Given the description of an element on the screen output the (x, y) to click on. 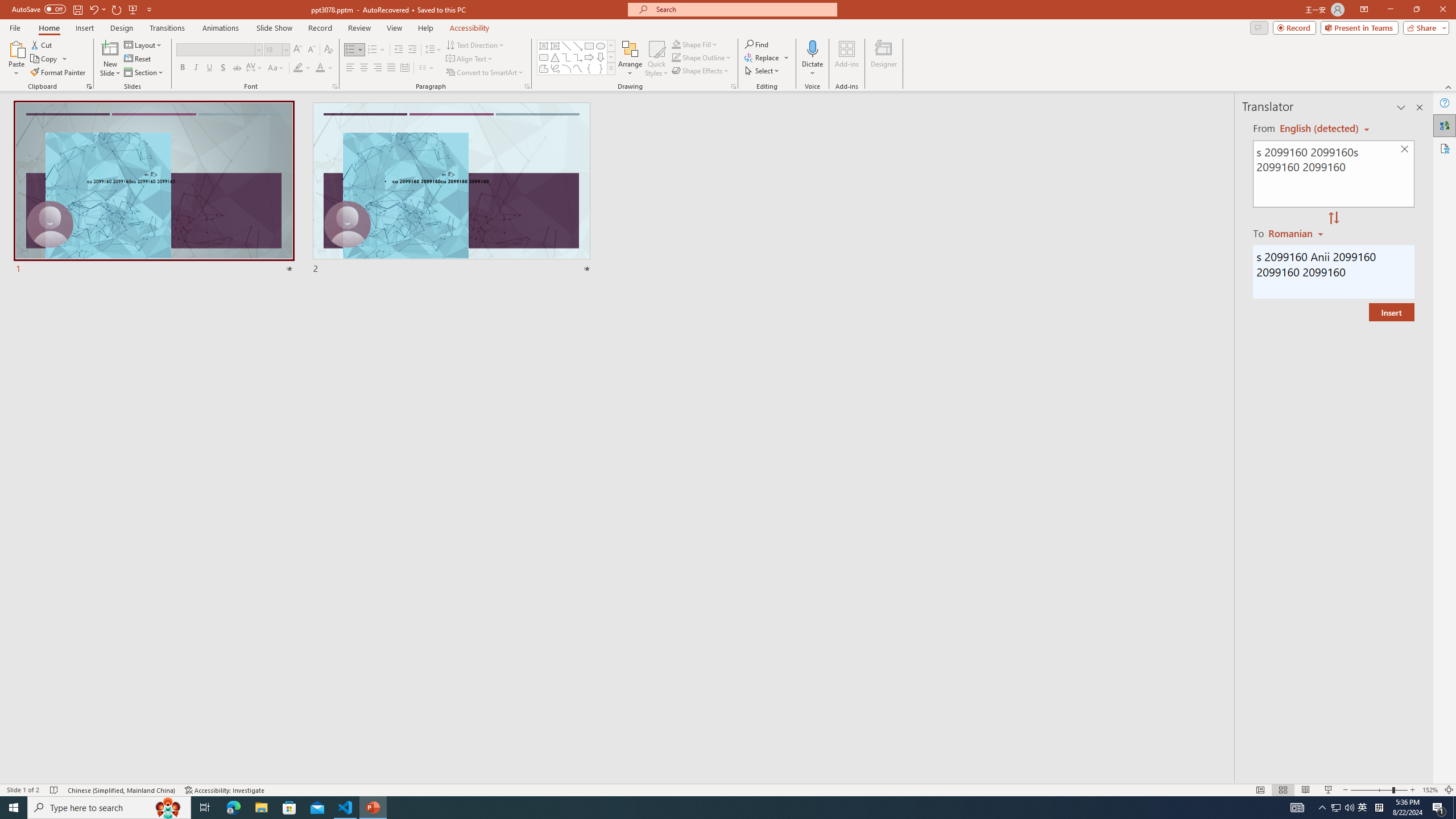
Zoom 152% (1430, 790)
